Given the description of an element on the screen output the (x, y) to click on. 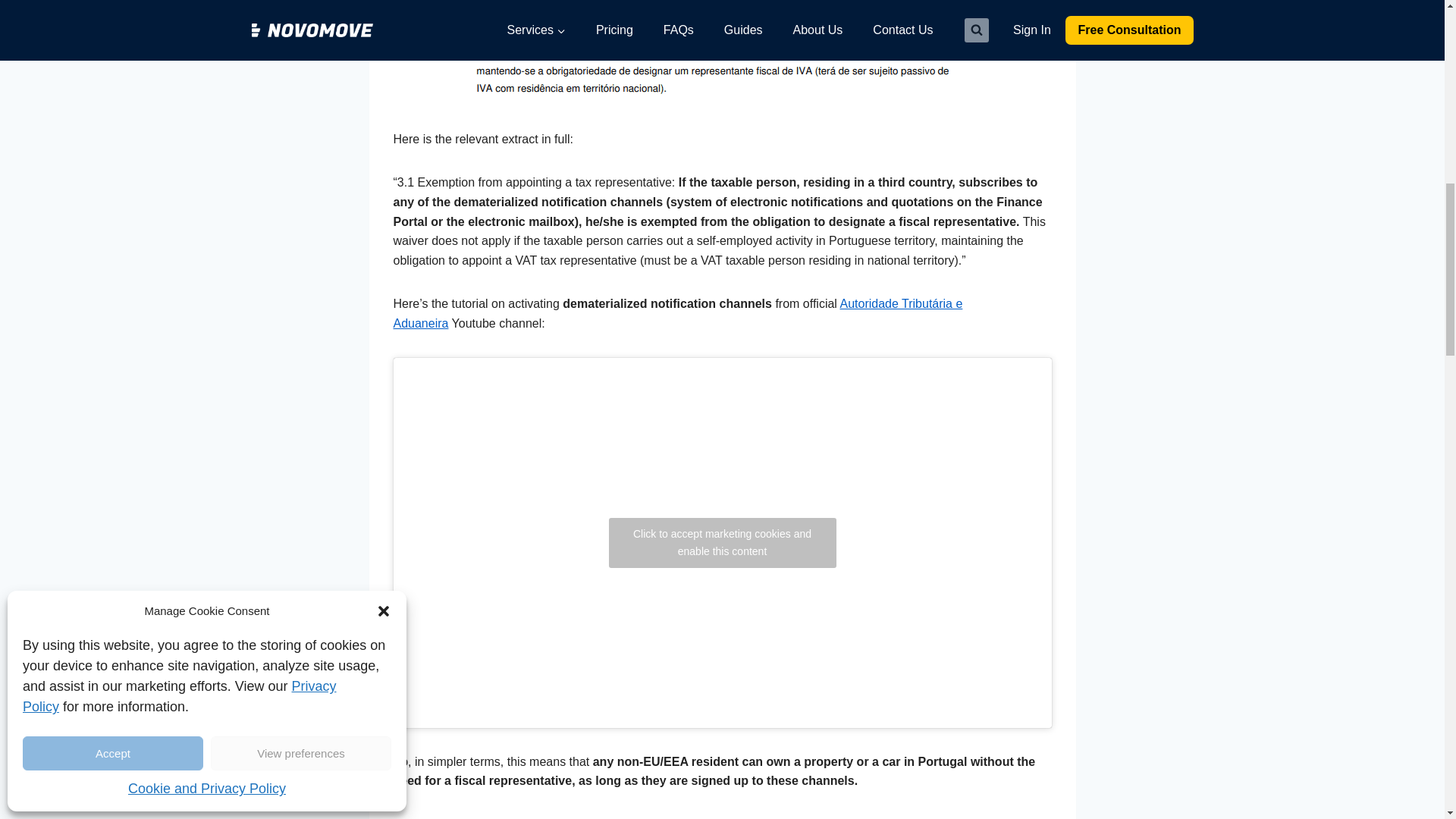
Click to accept marketing cookies and enable this content (721, 542)
